Given the description of an element on the screen output the (x, y) to click on. 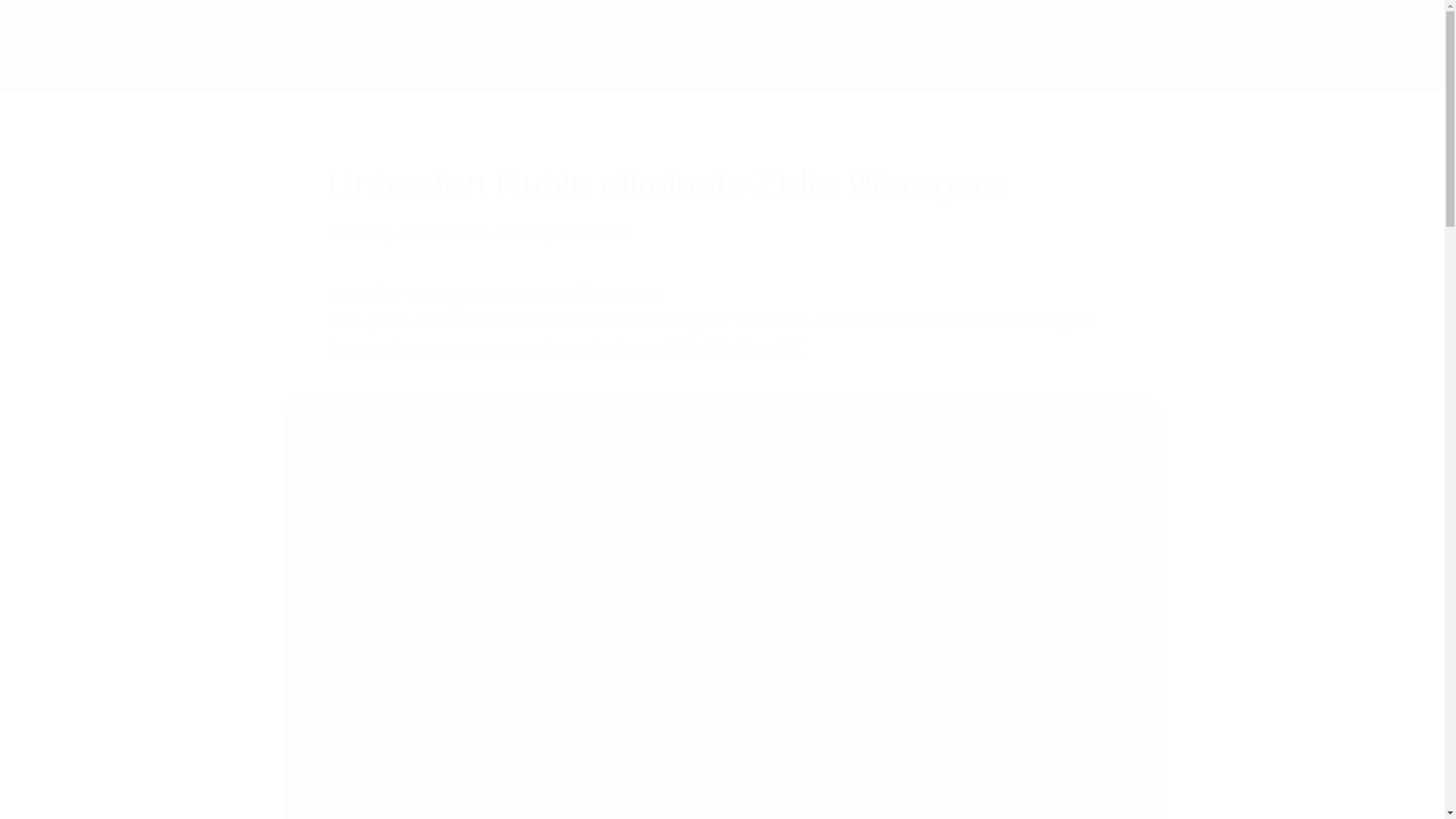
UEFA Europa League (227, 60)
UEFA Europa League (227, 60)
